Given the description of an element on the screen output the (x, y) to click on. 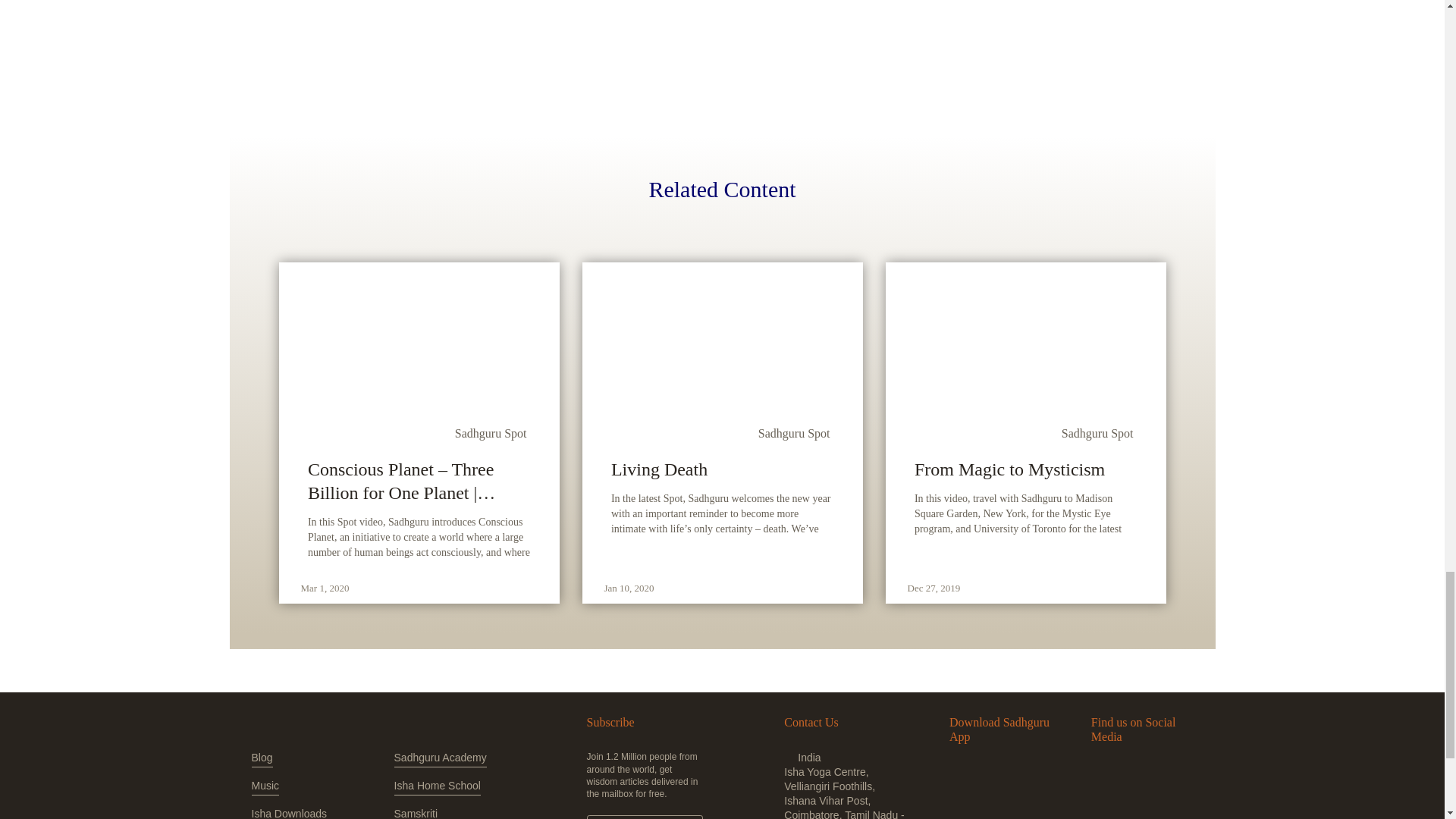
From Magic to Mysticism (1025, 469)
Living Death (721, 469)
